Given the description of an element on the screen output the (x, y) to click on. 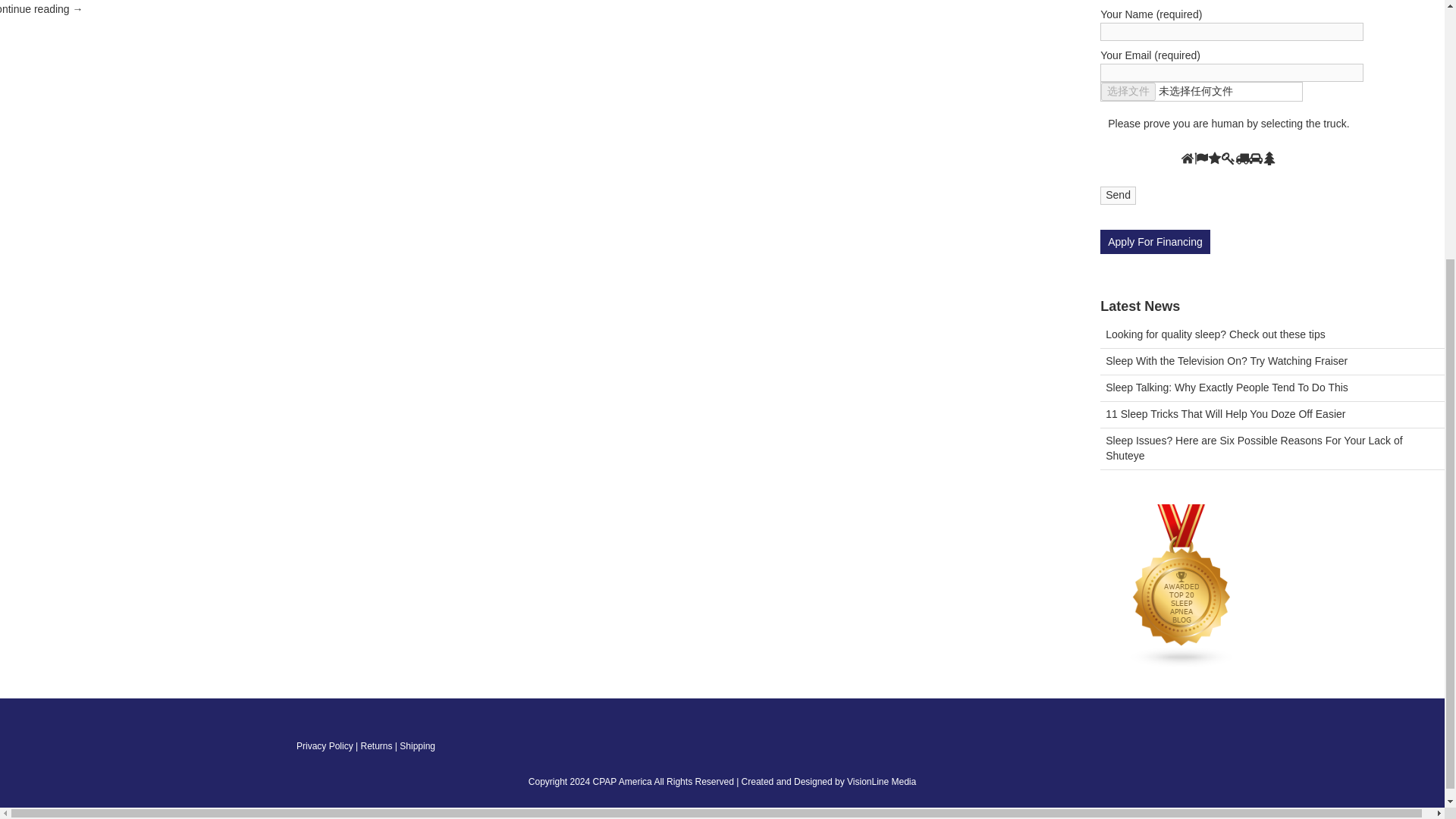
Looking for quality sleep? Check out these tips (1272, 335)
Apply For Financing (1154, 241)
Send (1117, 195)
Send (1117, 195)
Sleep With the Television On? Try Watching Fraiser (1272, 361)
